Given the description of an element on the screen output the (x, y) to click on. 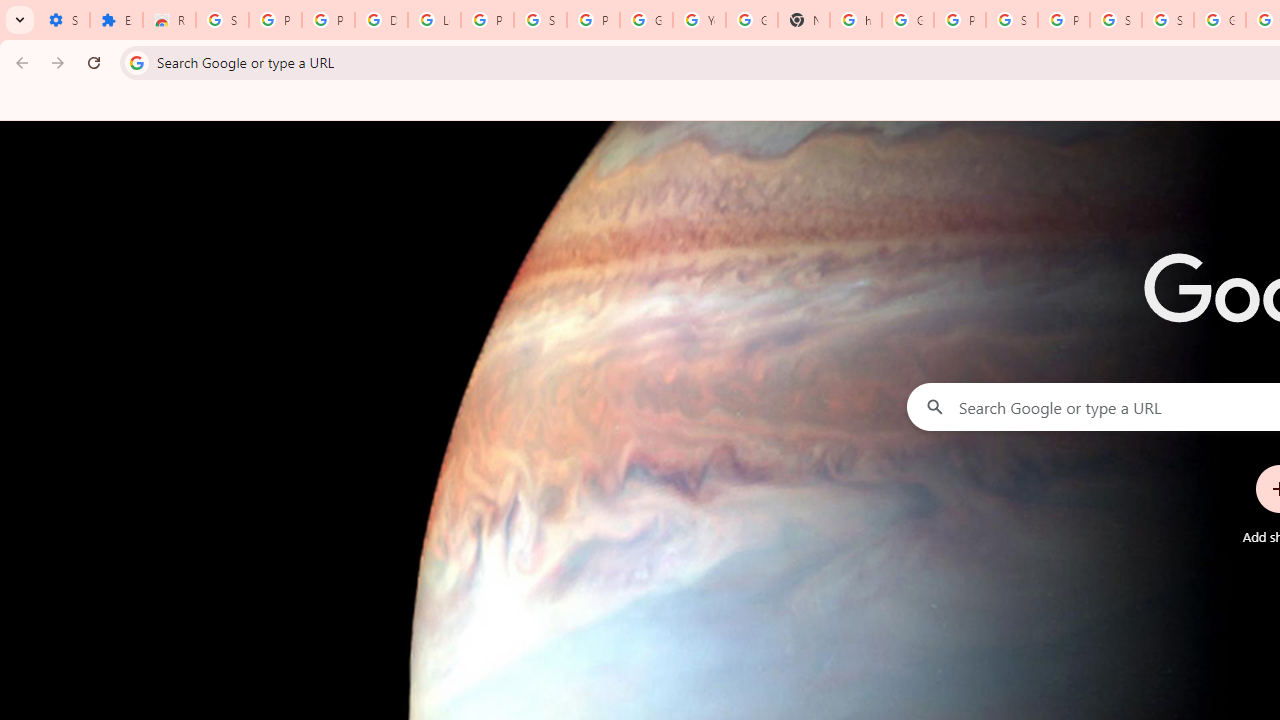
Extensions (116, 20)
Sign in - Google Accounts (540, 20)
New Tab (803, 20)
Reviews: Helix Fruit Jump Arcade Game (169, 20)
Search icon (136, 62)
Sign in - Google Accounts (1011, 20)
